Given the description of an element on the screen output the (x, y) to click on. 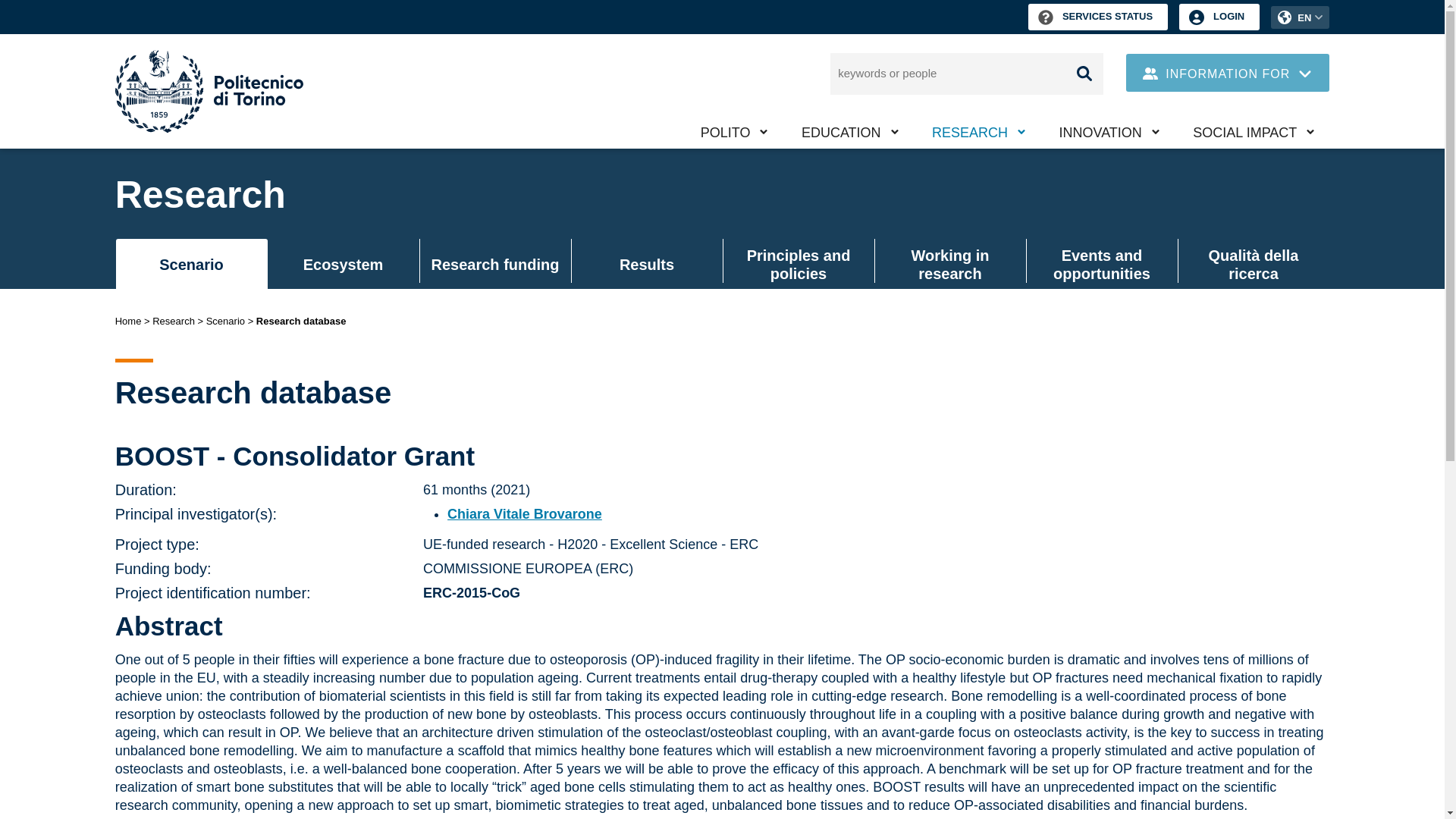
PoliTO (734, 132)
Education (850, 132)
EDUCATION (850, 132)
Toggle submenu (791, 150)
SERVICES STATUS (1097, 17)
POLITO (734, 132)
Toggle submenu (922, 150)
Services Status (1097, 17)
LOGIN (1219, 17)
